Given the description of an element on the screen output the (x, y) to click on. 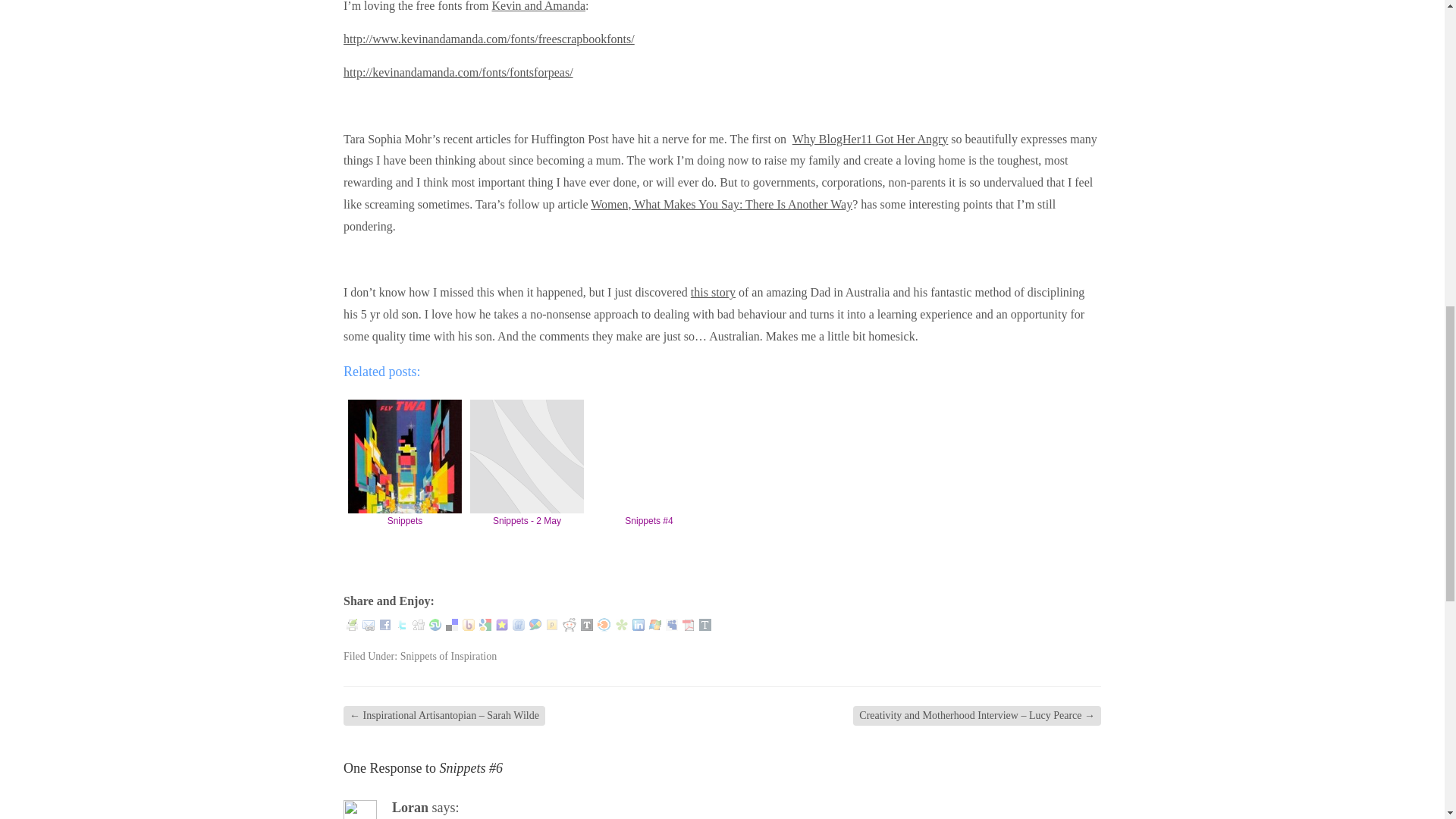
Digg (418, 624)
del.icio.us (452, 624)
Add to favorites (502, 624)
Google Bookmarks (485, 624)
Snippets of Inspiration (448, 655)
Twitter (401, 624)
Add to favorites (502, 624)
Women, What Makes You Say: There Is Another Way (721, 204)
Kevin and Amanda (538, 6)
Print (351, 624)
Facebook (385, 624)
email (368, 624)
Yahoo! Buzz (468, 624)
StumbleUpon (435, 624)
this story (712, 291)
